Given the description of an element on the screen output the (x, y) to click on. 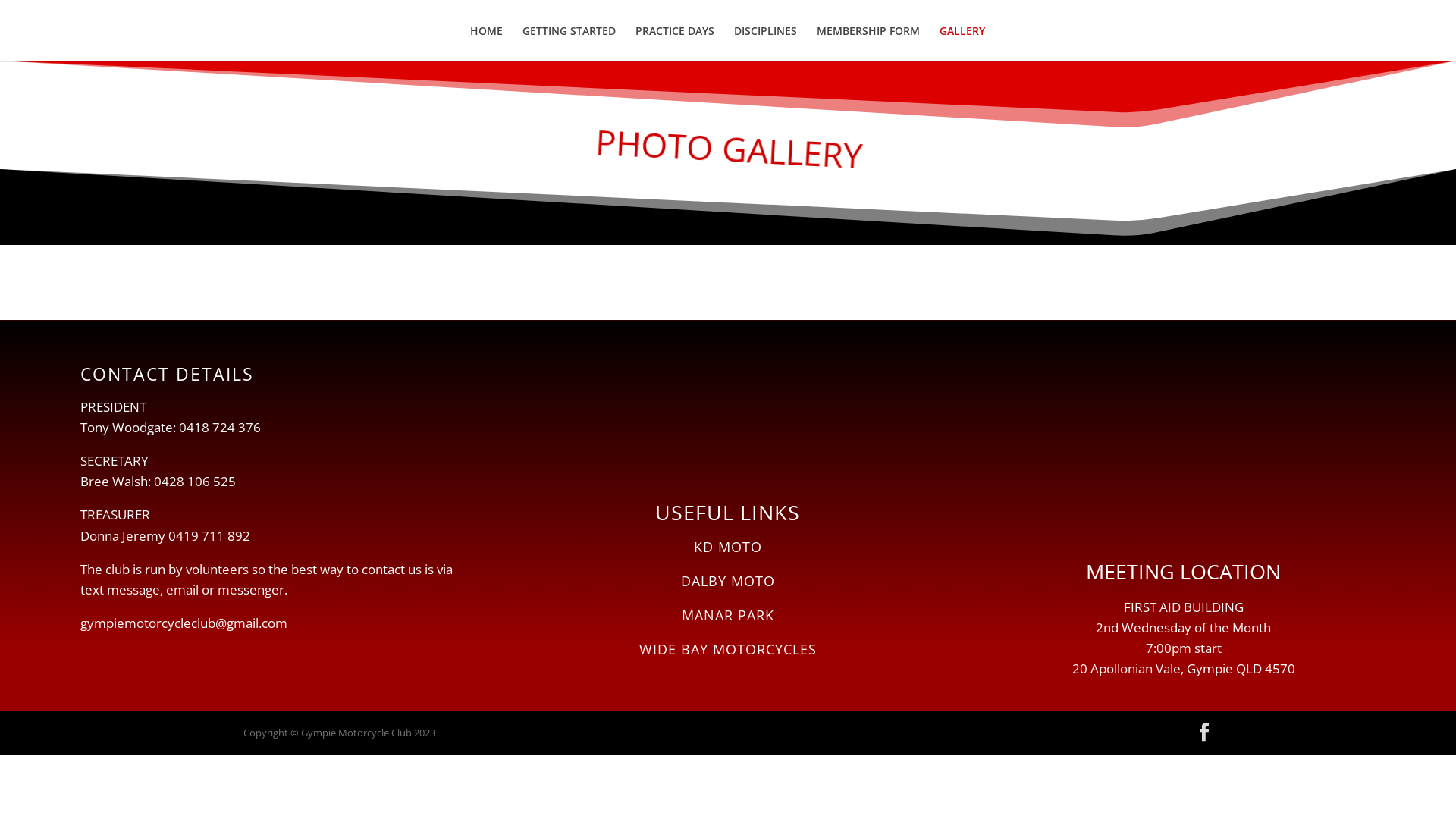
MANAR PARK Element type: text (727, 614)
DISCIPLINES Element type: text (765, 43)
GETTING STARTED Element type: text (568, 43)
DALBY MOTO Element type: text (727, 580)
PRACTICE DAYS Element type: text (674, 43)
GALLERY Element type: text (961, 43)
WIDE BAY MOTORCYCLES Element type: text (727, 649)
HOME Element type: text (486, 43)
KD MOTO Element type: text (727, 546)
MEMBERSHIP FORM Element type: text (867, 43)
